Given the description of an element on the screen output the (x, y) to click on. 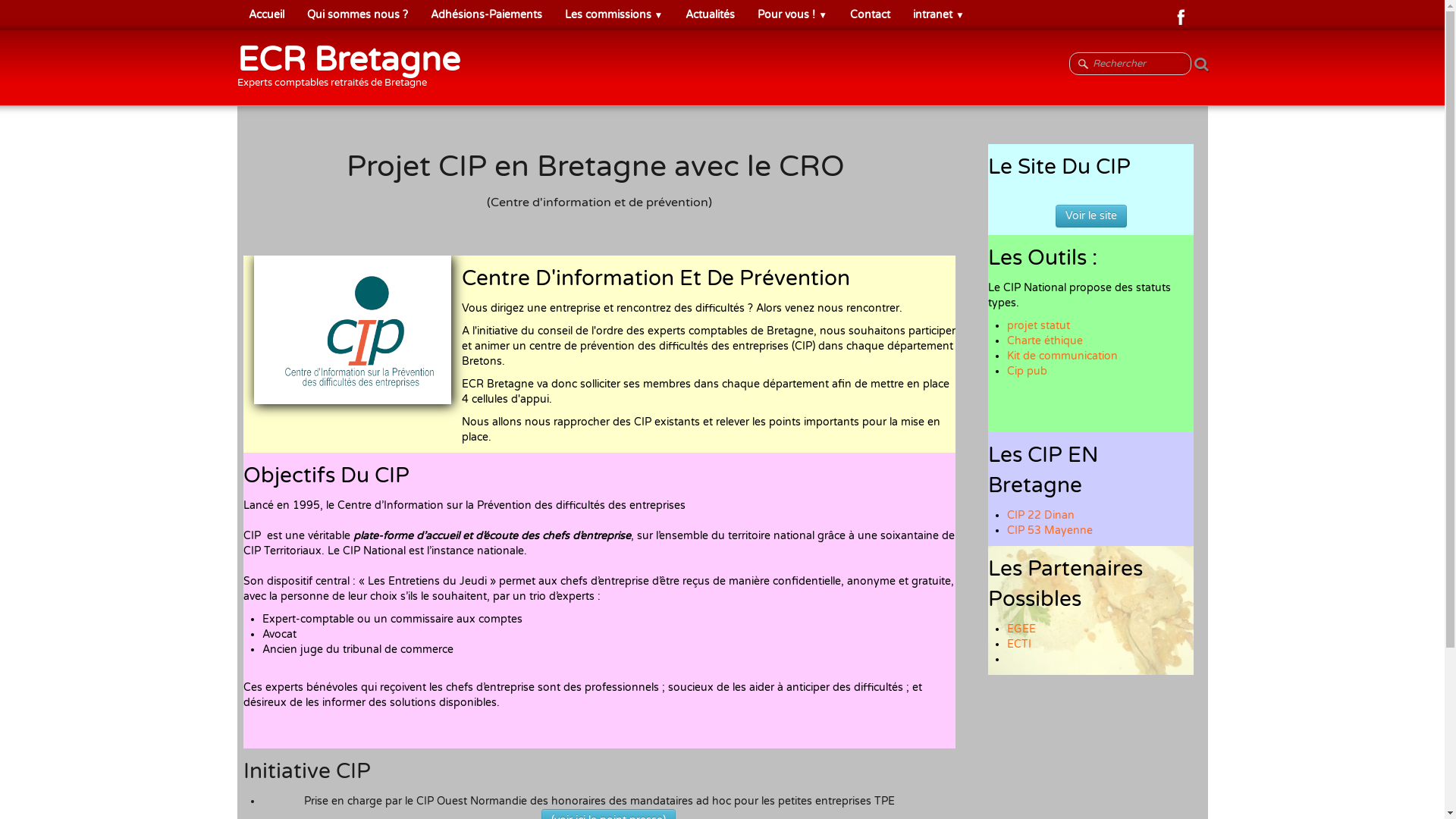
Contact Element type: text (869, 15)
Cip pub Element type: text (1027, 370)
CIP 53 Mayenne Element type: text (1049, 530)
projet statut Element type: text (1038, 325)
CIP 22 Dinan Element type: text (1040, 514)
ECTI Element type: text (1019, 643)
Accueil Element type: text (265, 15)
Kit de communication Element type: text (1062, 355)
Qui sommes nous ? Element type: text (357, 15)
EGEE Element type: text (1021, 628)
Voir le site Element type: text (1090, 215)
